Given the description of an element on the screen output the (x, y) to click on. 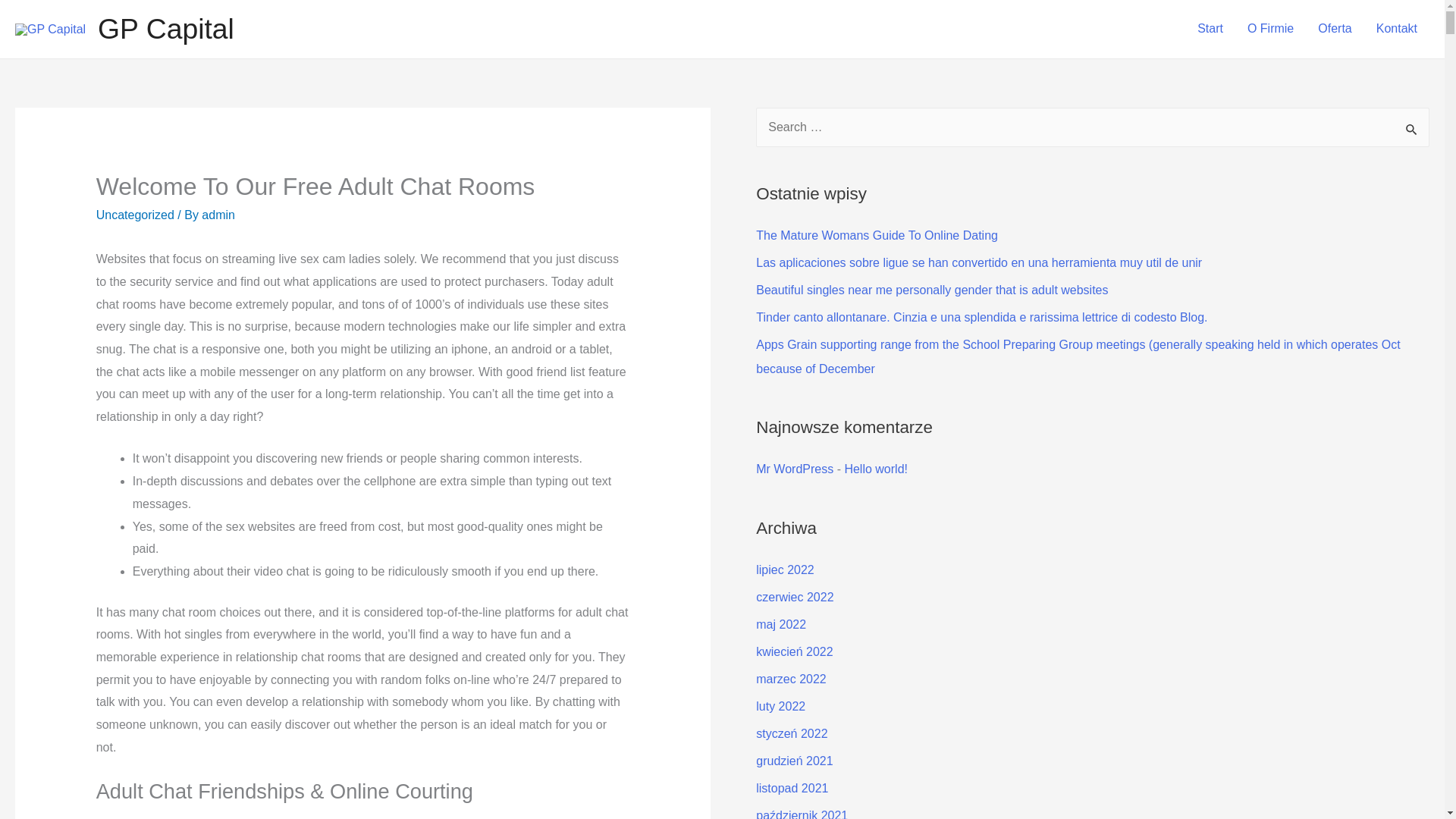
Kontakt (1396, 28)
Hello world! (875, 468)
lipiec 2022 (784, 569)
GP Capital (165, 29)
listopad 2021 (791, 788)
View all posts by admin (218, 214)
admin (218, 214)
luty 2022 (780, 706)
Start (1209, 28)
